Given the description of an element on the screen output the (x, y) to click on. 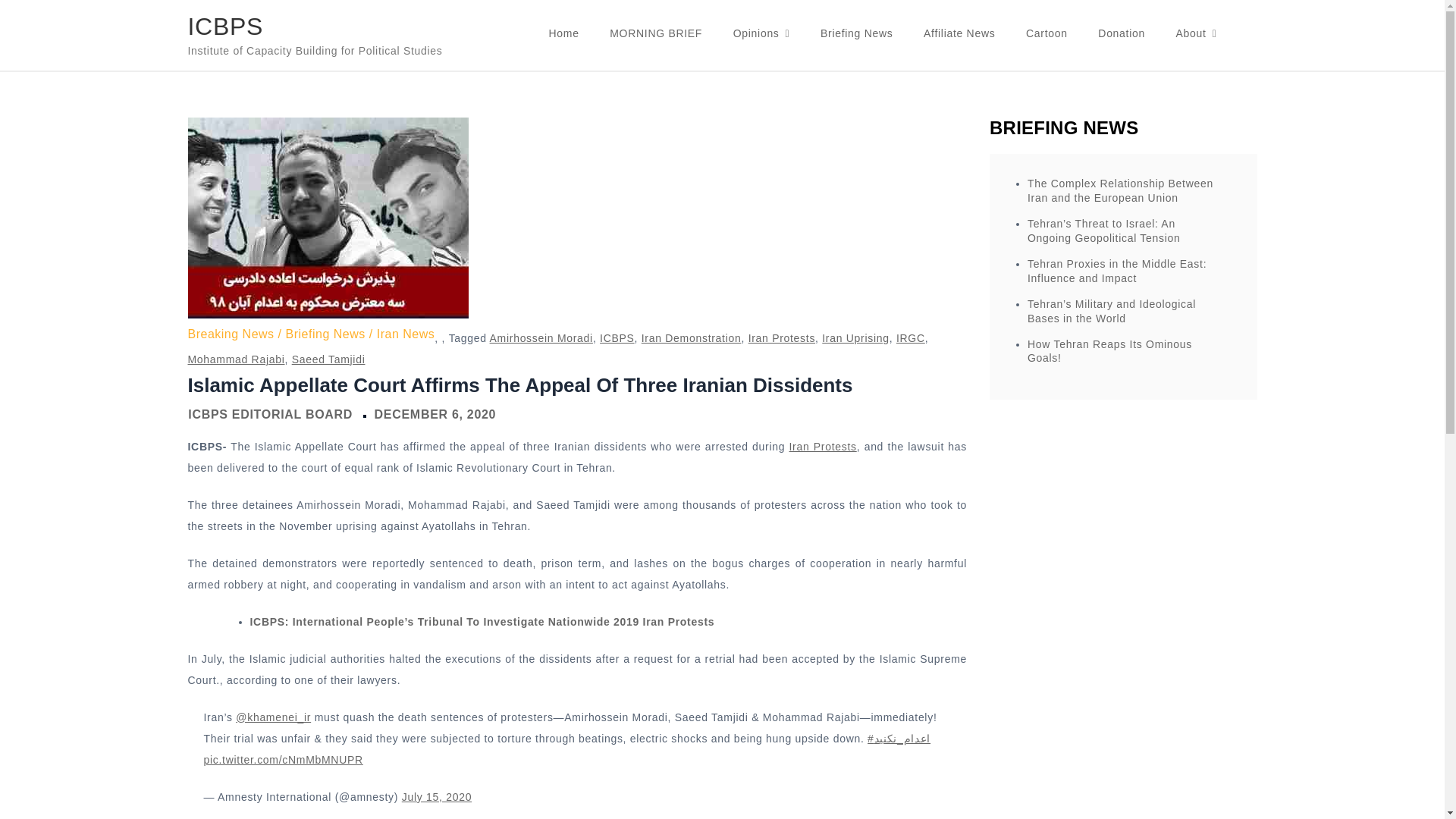
Mohammad Rajabi (236, 358)
Iran Protests (823, 446)
DECEMBER 6, 2020 (435, 413)
Iran News (406, 334)
ICBPS (616, 337)
Opinions (761, 33)
About (1195, 33)
Donation (1121, 33)
ICBPS (225, 26)
Briefing News (855, 33)
Briefing News (331, 334)
MORNING BRIEF (655, 33)
Iran Uprising (855, 337)
IRGC (910, 337)
Amirhossein Moradi (540, 337)
